Given the description of an element on the screen output the (x, y) to click on. 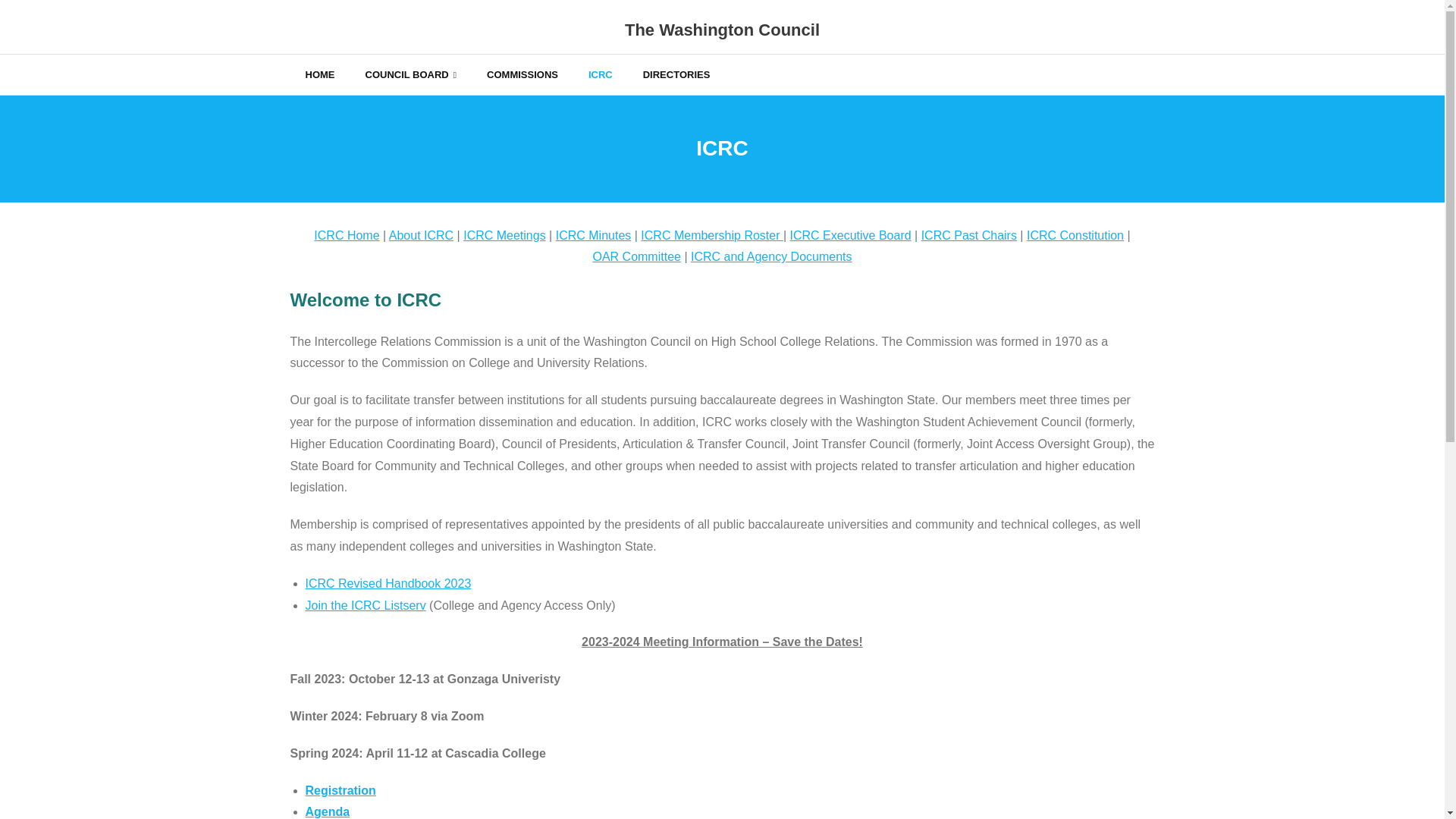
About ICRC (420, 235)
DIRECTORIES (676, 74)
ICRC Membership Roster (709, 235)
OAR Committee (635, 256)
HOME (319, 74)
Join the ICRC Listserv (364, 604)
COMMISSIONS (522, 74)
COUNCIL BOARD (410, 74)
The Washington Council (721, 30)
ICRC Revised Handbook 2023 (387, 583)
ICRC Minutes (593, 235)
ICRC Home (346, 235)
Registration (339, 789)
The Washington Council (721, 30)
ICRC and Agency Documents (770, 256)
